Given the description of an element on the screen output the (x, y) to click on. 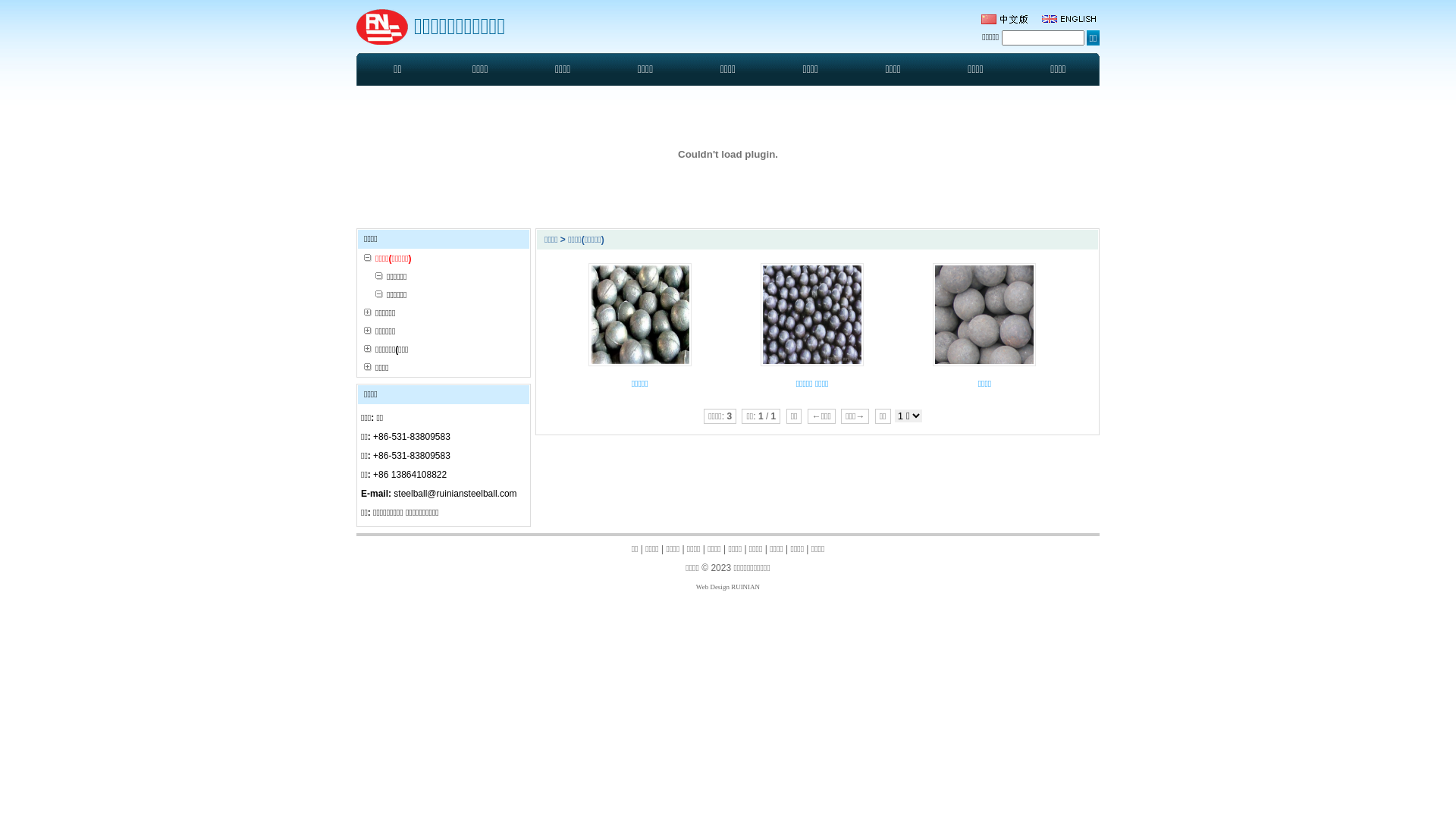
Web Design RUINIAN Element type: text (727, 586)
